Given the description of an element on the screen output the (x, y) to click on. 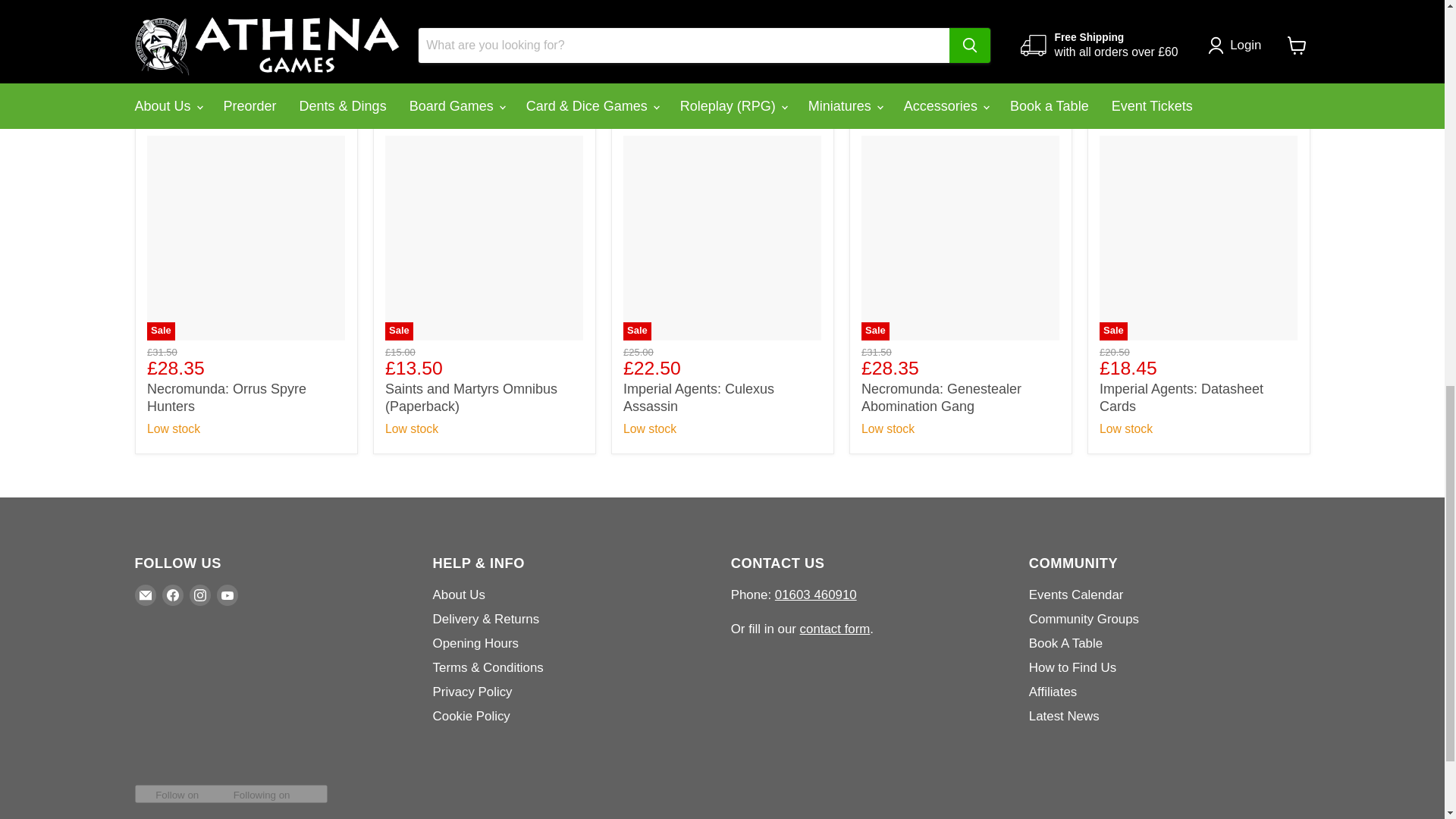
Facebook (172, 595)
Email (145, 595)
Instagram (200, 595)
Contact Us (834, 628)
tel:01603 460910 (815, 594)
YouTube (227, 595)
